Given the description of an element on the screen output the (x, y) to click on. 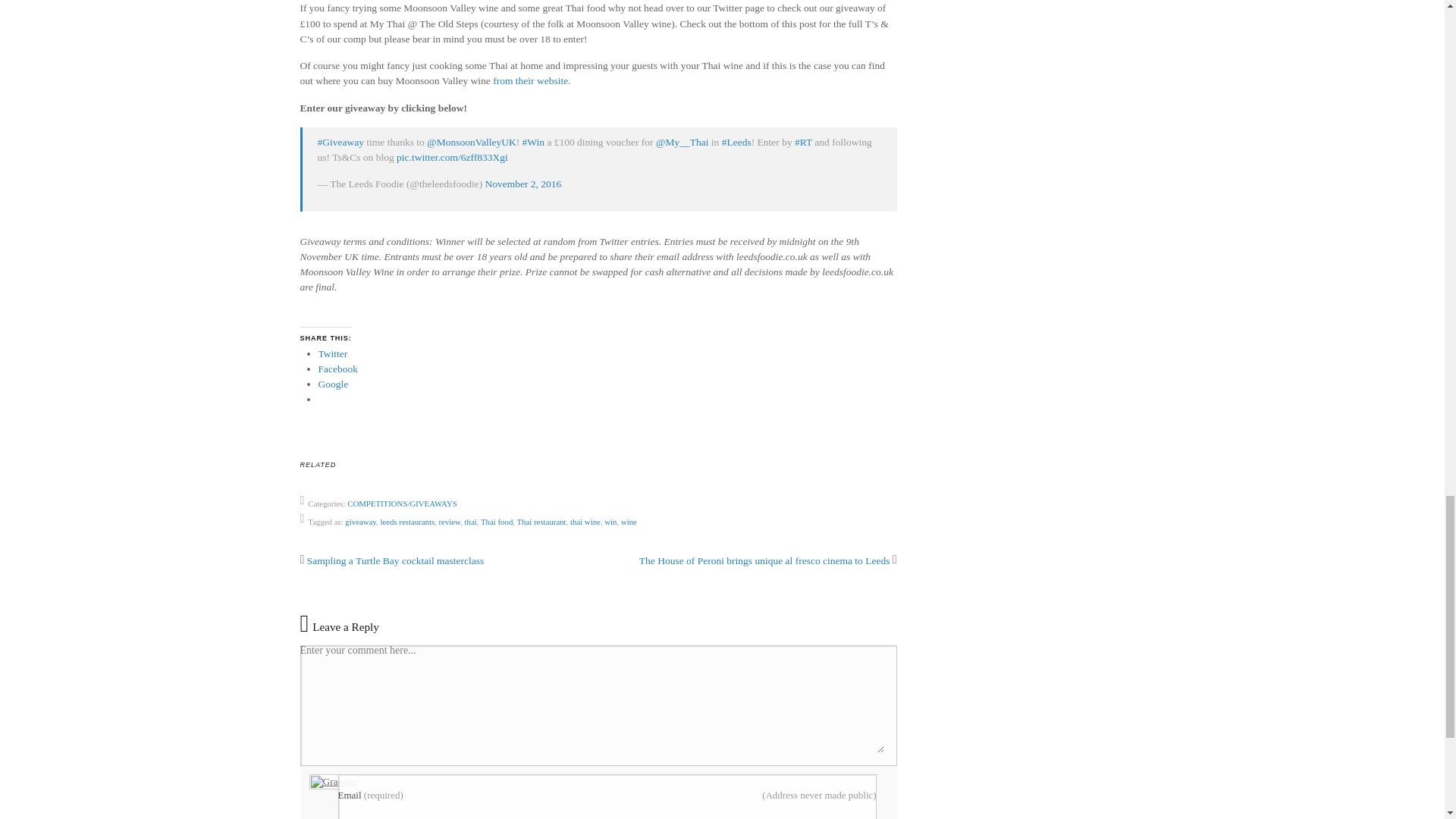
review (449, 521)
leeds restaurants (406, 521)
thai wine (584, 521)
November 2, 2016 (523, 183)
Facebook (338, 368)
Twitter (332, 353)
Google (333, 383)
Thai restaurant (541, 521)
thai (470, 521)
win (609, 521)
Thai food (496, 521)
from their website (530, 80)
giveaway (360, 521)
